Given the description of an element on the screen output the (x, y) to click on. 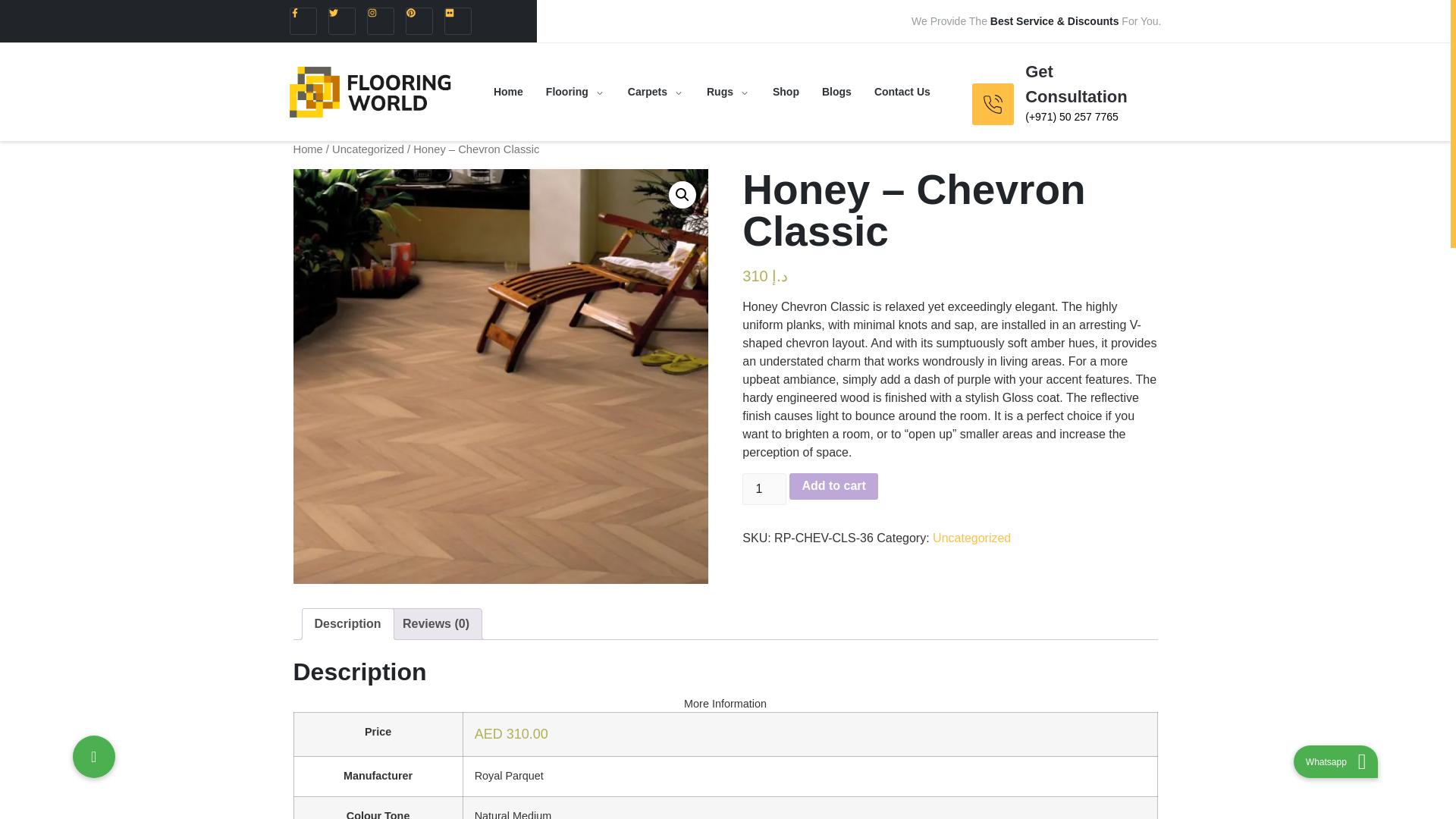
Rugs (728, 91)
Flooring (574, 91)
Home (507, 91)
Shop (785, 91)
1 (764, 489)
Blogs (836, 91)
Contact Us (902, 91)
Carpets (655, 91)
